Given the description of an element on the screen output the (x, y) to click on. 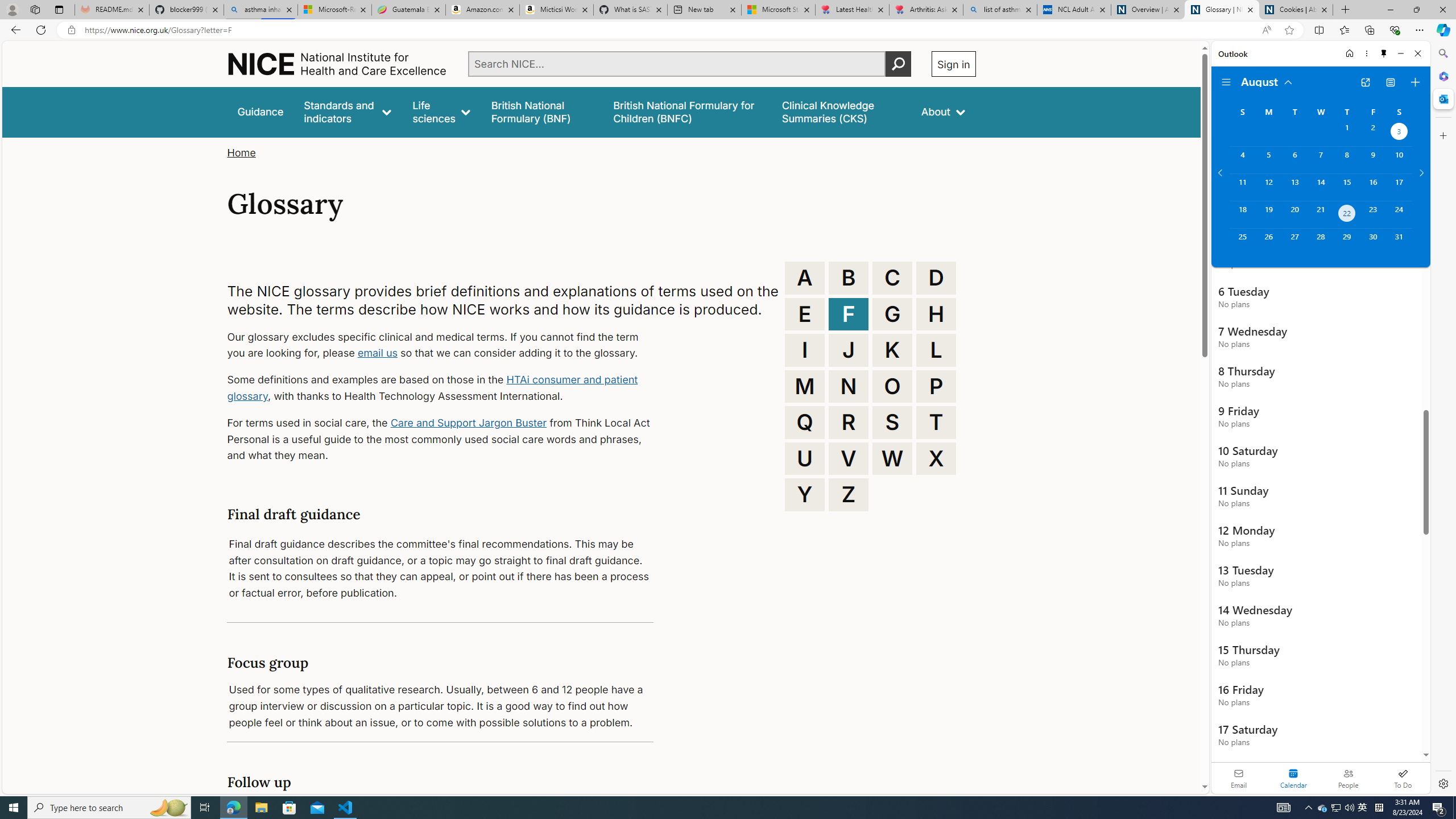
Z (848, 494)
Friday, August 9, 2024.  (1372, 159)
B (848, 277)
A (804, 277)
H (935, 313)
E (804, 313)
Friday, August 16, 2024.  (1372, 186)
August (1267, 80)
J (848, 350)
